Given the description of an element on the screen output the (x, y) to click on. 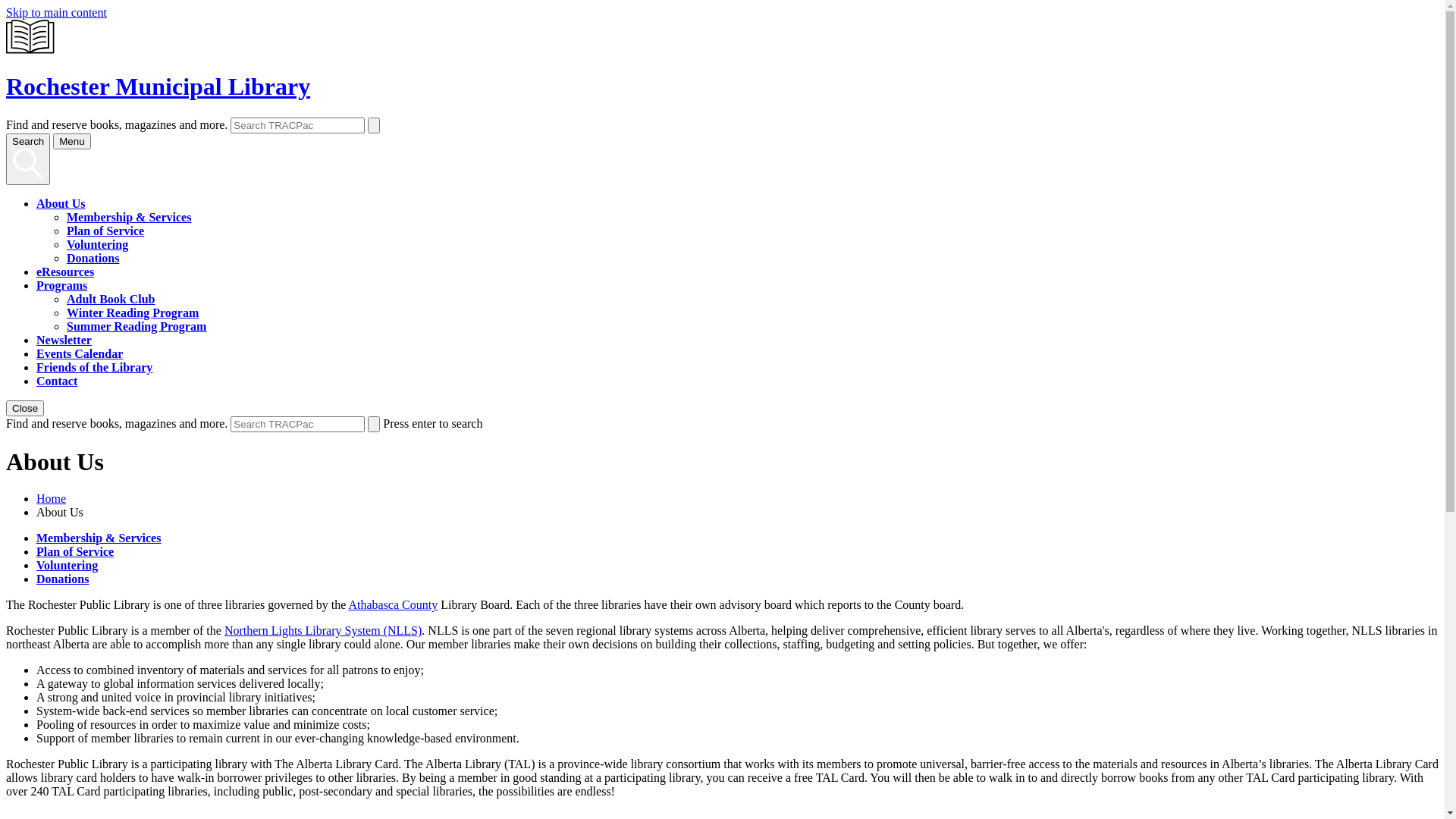
Membership & Services Element type: text (128, 216)
Newsletter Element type: text (63, 339)
Adult Book Club Element type: text (110, 298)
Menu Element type: text (71, 141)
Winter Reading Program Element type: text (132, 312)
Home Element type: text (50, 498)
Contact Element type: text (56, 380)
Voluntering Element type: text (66, 564)
Rochester Municipal Library Element type: text (722, 71)
Friends of the Library Element type: text (94, 366)
Donations Element type: text (92, 257)
Donations Element type: text (62, 578)
eResources Element type: text (65, 271)
Summer Reading Program Element type: text (136, 326)
Northern Lights Library System (NLLS) Element type: text (322, 630)
Plan of Service Element type: text (74, 551)
Athabasca County Element type: text (392, 604)
About Us Element type: text (60, 203)
Skip to main content Element type: text (56, 12)
Plan of Service Element type: text (105, 230)
Membership & Services Element type: text (98, 537)
Programs Element type: text (61, 285)
Search Element type: text (28, 159)
Voluntering Element type: text (97, 244)
Close Element type: text (24, 408)
Events Calendar Element type: text (79, 353)
